Given the description of an element on the screen output the (x, y) to click on. 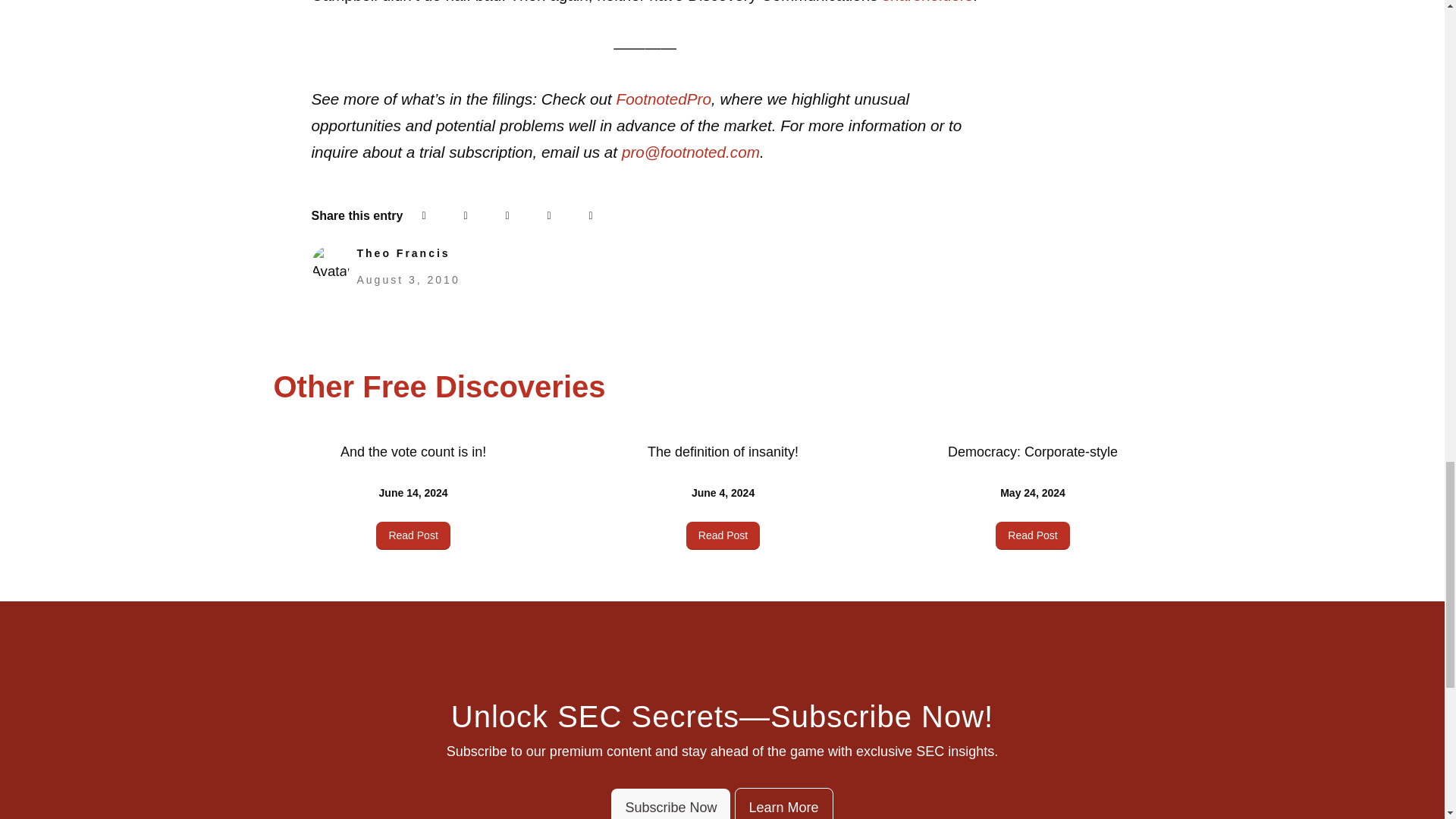
shareholders (927, 2)
Subscribe Now (670, 803)
Democracy: Corporate-style (1032, 451)
The definition of insanity! (722, 451)
FootnotedPro (663, 98)
FootnotedPro (663, 98)
Read Post (1031, 535)
And the vote count is in! (413, 451)
Learn More (782, 803)
Read Post (412, 535)
